Given the description of an element on the screen output the (x, y) to click on. 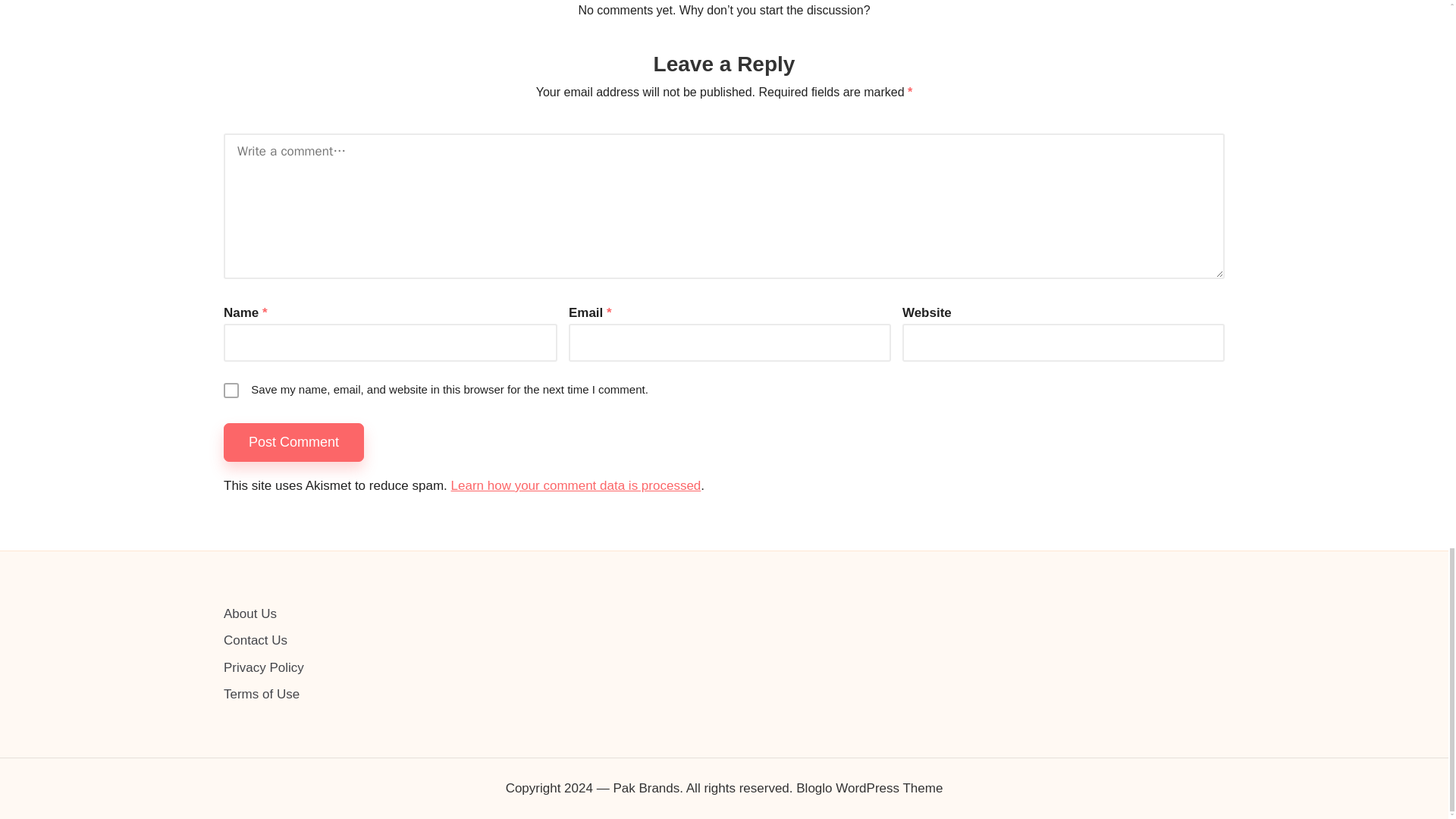
Post Comment (294, 442)
yes (231, 390)
About Us (250, 613)
Bloglo WordPress Theme (869, 788)
Terms of Use (261, 694)
Contact Us (255, 640)
Post Comment (294, 442)
Learn how your comment data is processed (576, 485)
Privacy Policy (264, 667)
